Given the description of an element on the screen output the (x, y) to click on. 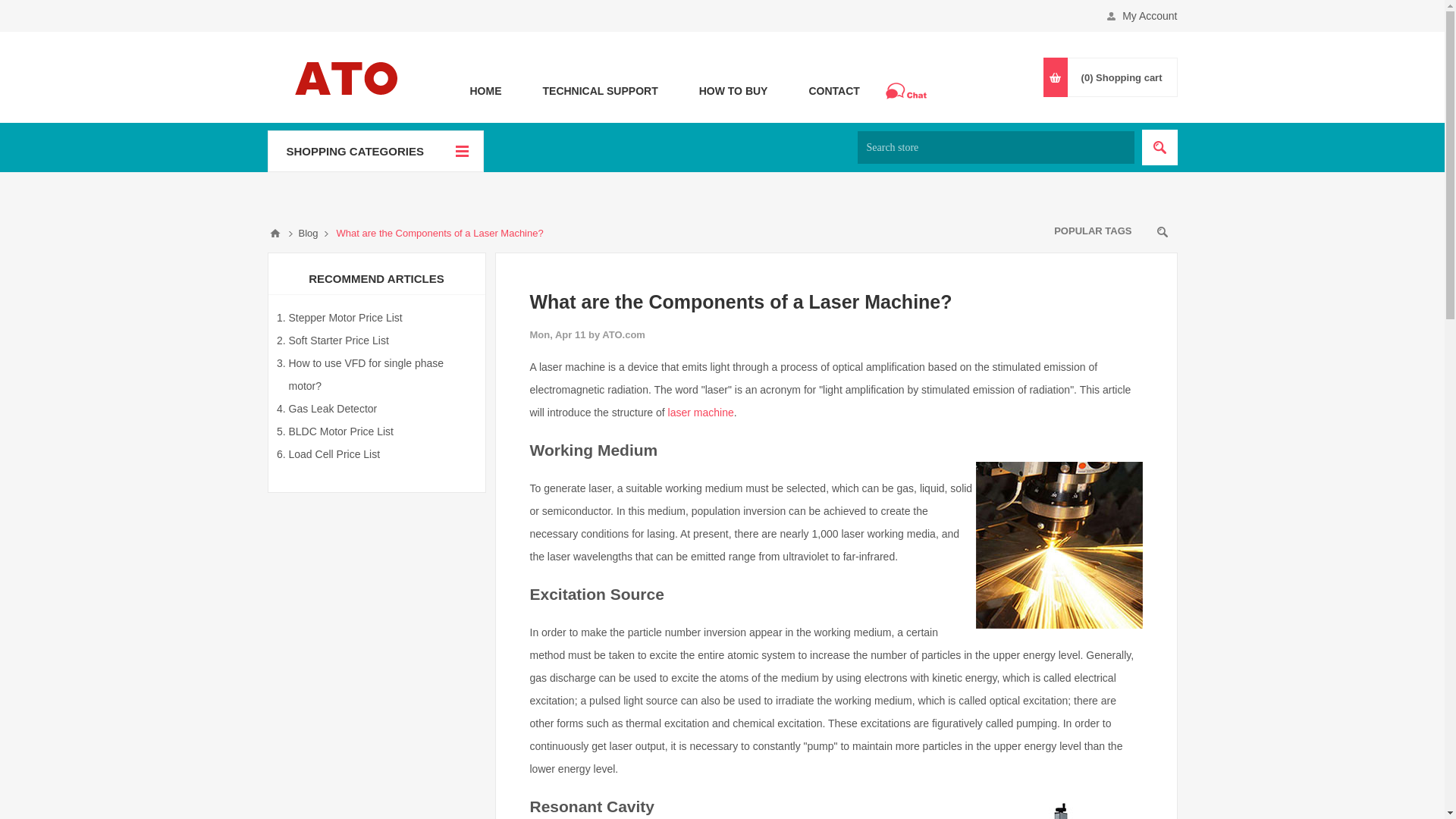
Search (1159, 147)
HOME (484, 89)
Search (1159, 147)
